Given the description of an element on the screen output the (x, y) to click on. 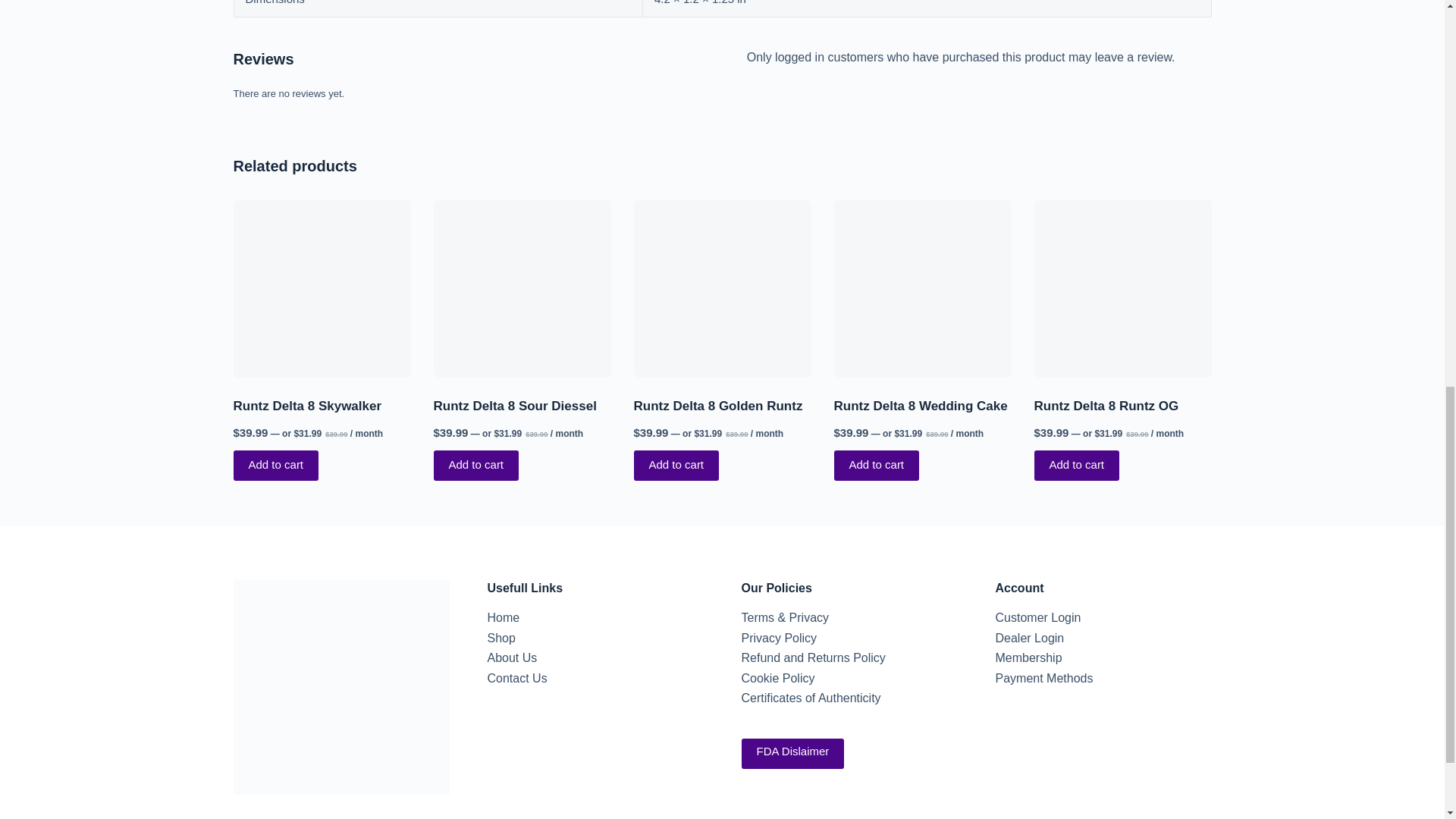
Runtz  Delta 8  Runtz OG 1 (1122, 288)
Runtz  Delta 8  Wedding Cake 1 (922, 288)
Runtz  Delta 8  Golden Runtz 1 (721, 288)
Runtz  Delta 8  Skywalker 1 (321, 288)
Runtz  Delta 8  Sour Diessel 1 (522, 288)
